Given the description of an element on the screen output the (x, y) to click on. 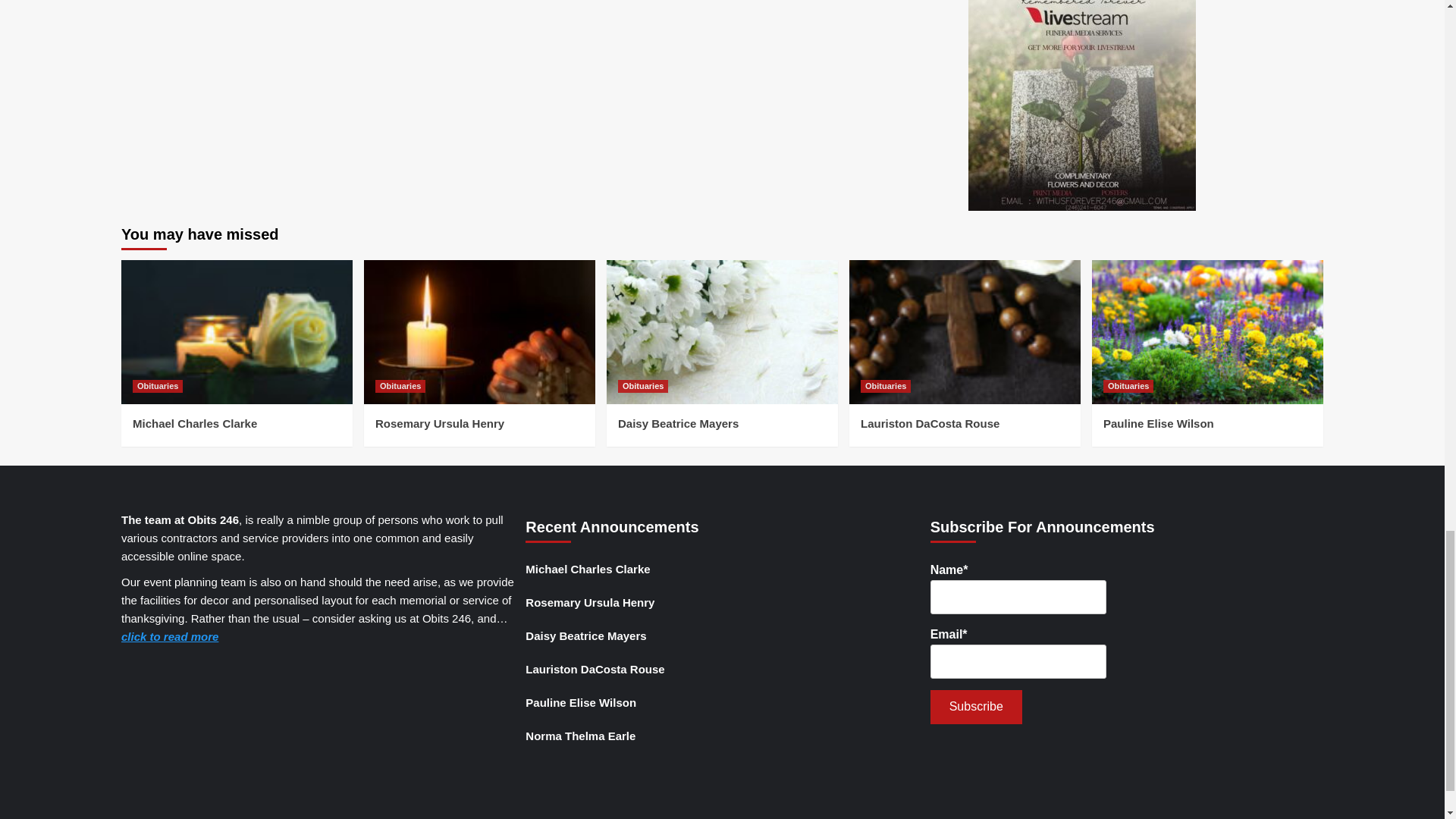
Subscribe (976, 706)
